Given the description of an element on the screen output the (x, y) to click on. 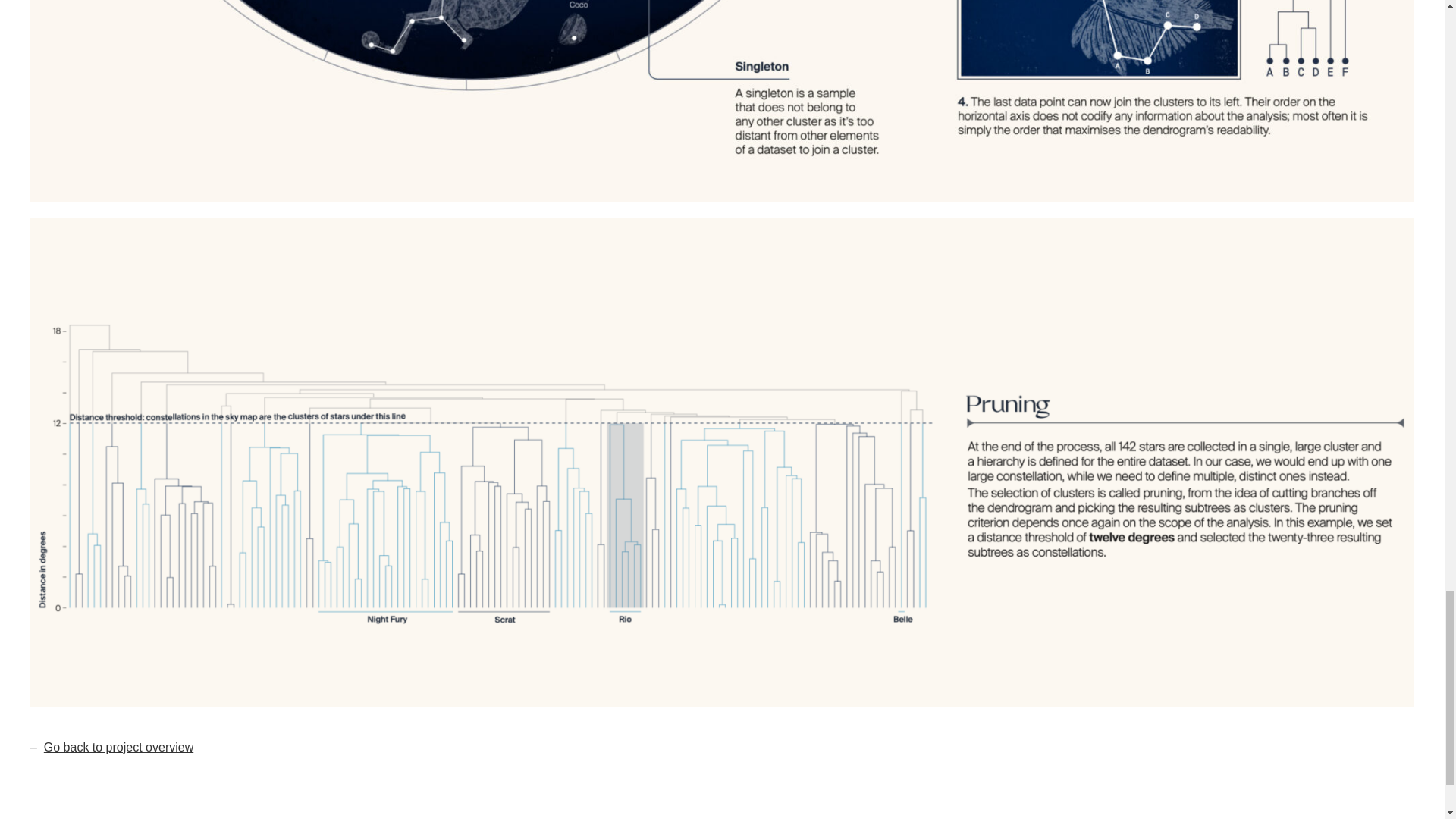
Go back to project overview (118, 747)
